Given the description of an element on the screen output the (x, y) to click on. 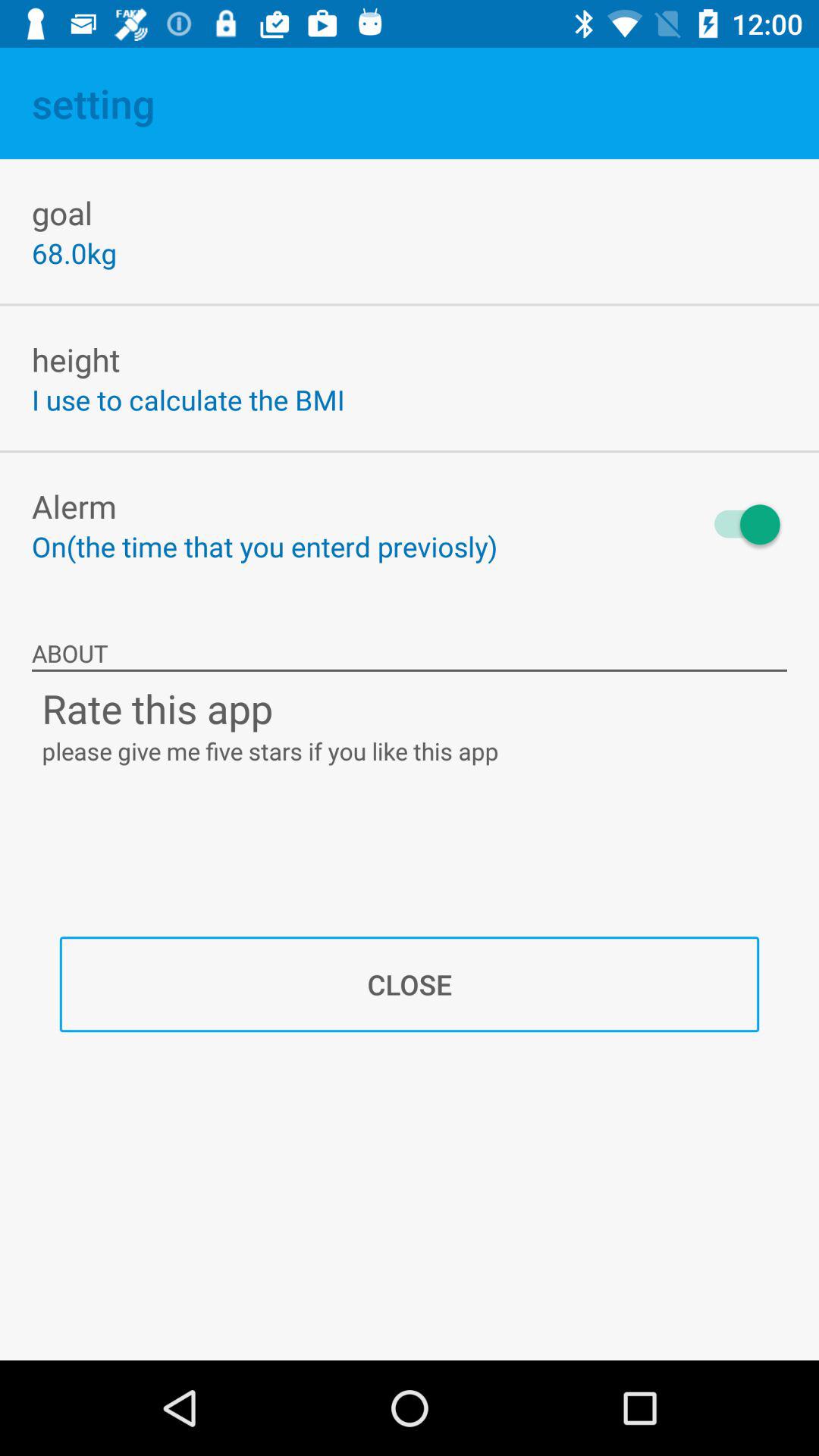
choose the item below please give me (409, 984)
